Given the description of an element on the screen output the (x, y) to click on. 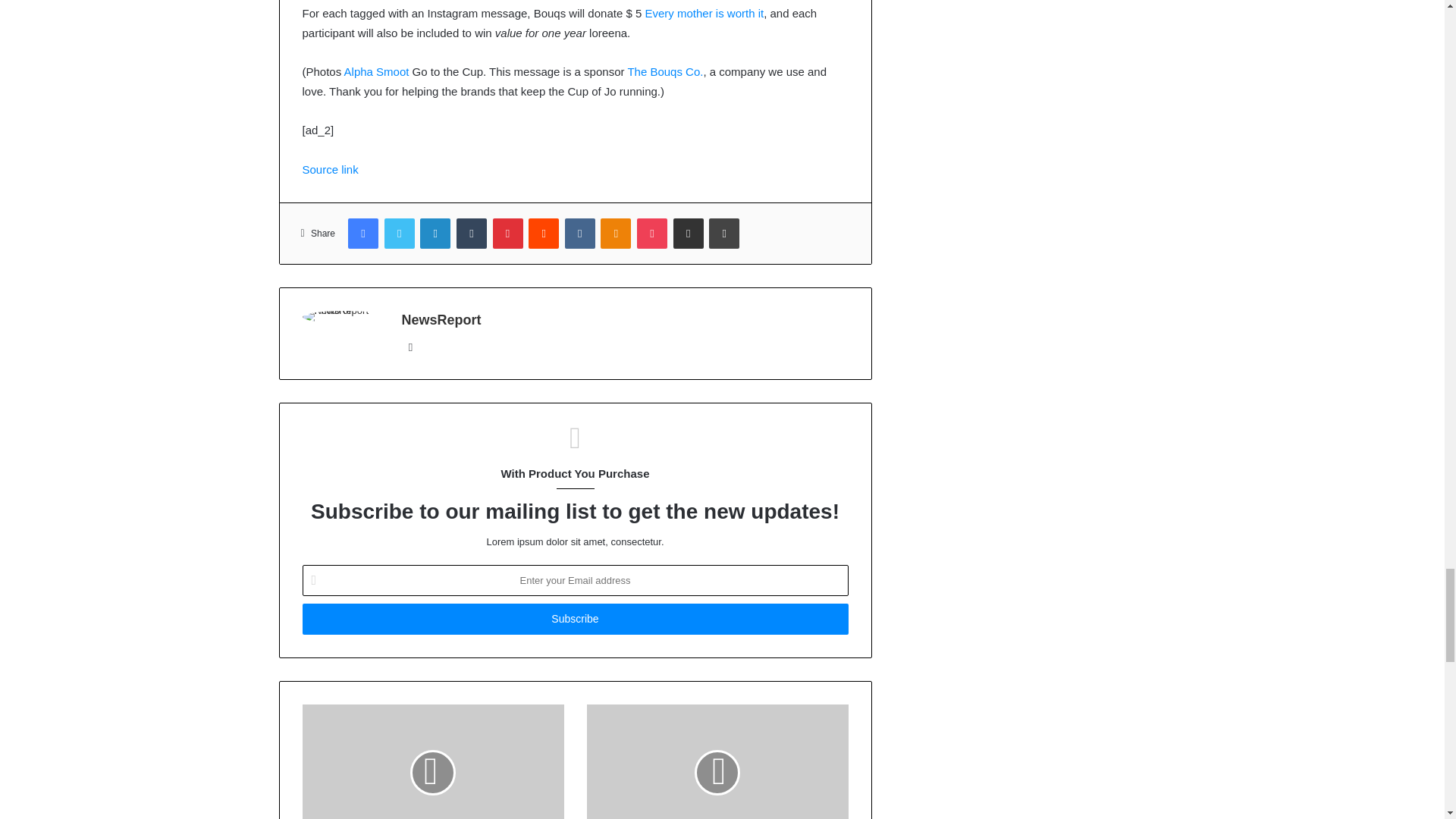
Subscribe (574, 618)
